Given the description of an element on the screen output the (x, y) to click on. 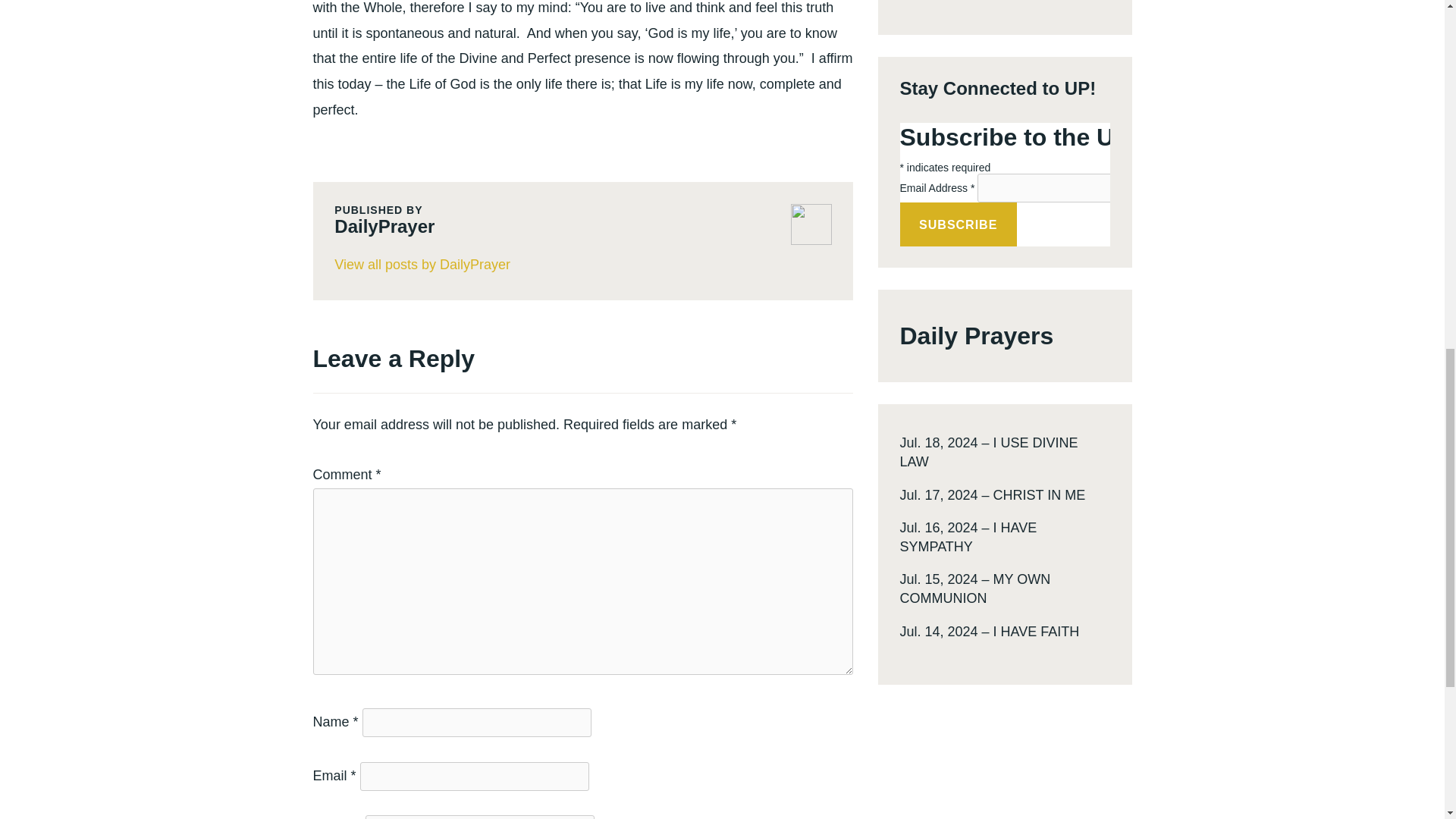
View all posts by DailyPrayer (582, 265)
Subscribe (957, 224)
Subscribe (957, 224)
